Given the description of an element on the screen output the (x, y) to click on. 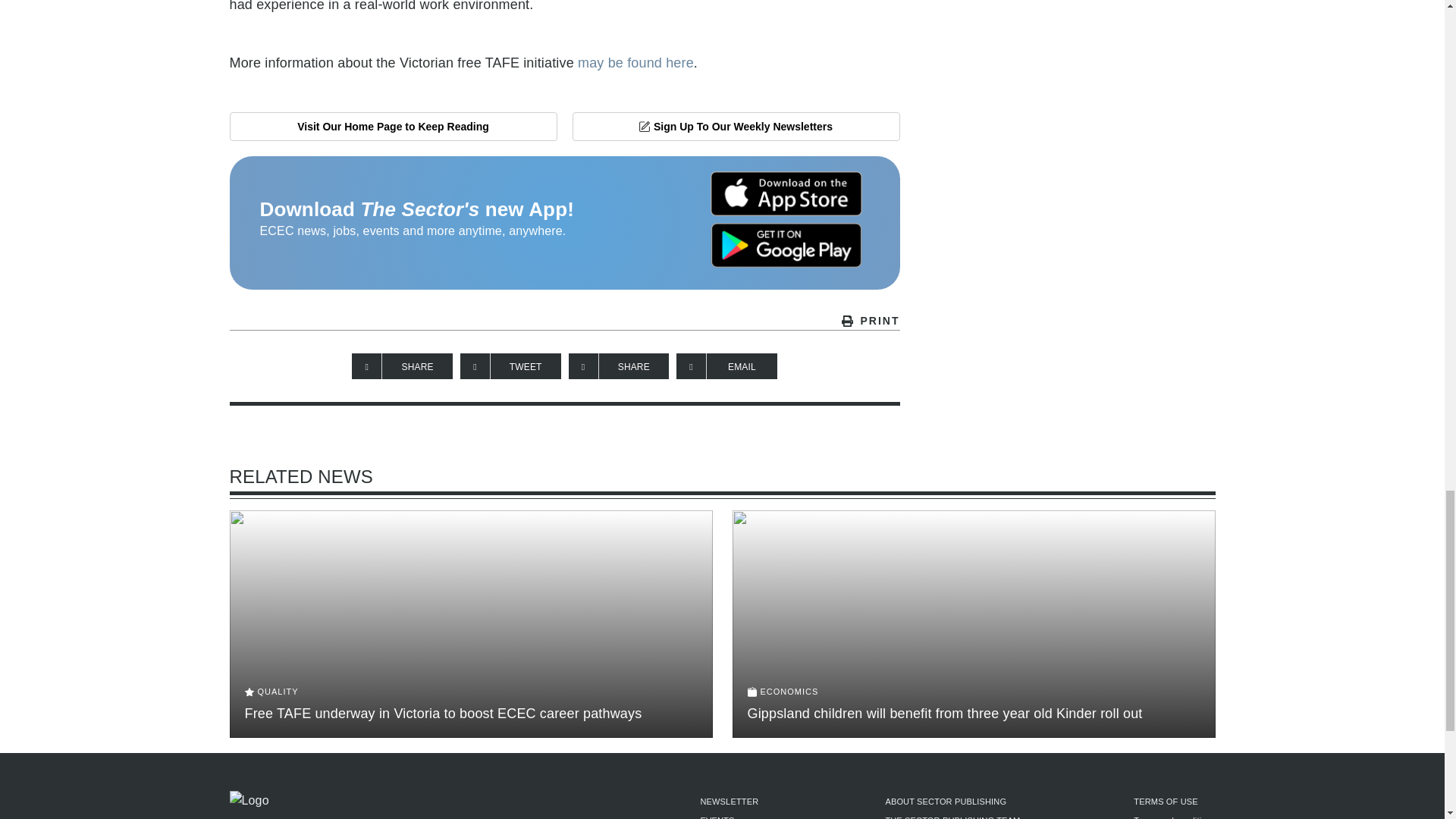
Tweet (510, 365)
Share on Facebook (402, 365)
Share on Email (727, 365)
Share on LinkedIn (619, 365)
